Given the description of an element on the screen output the (x, y) to click on. 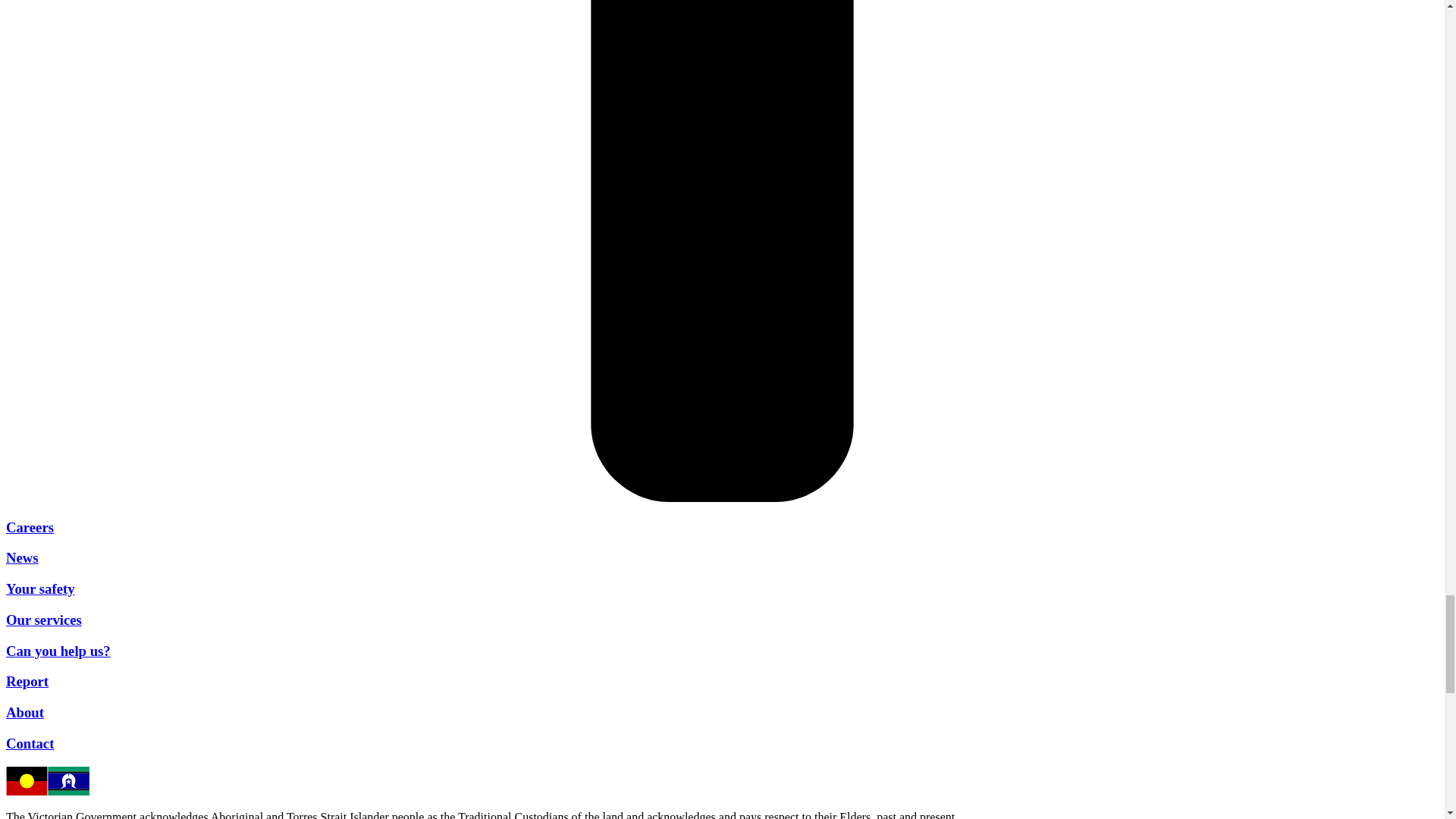
Can you help us? (57, 650)
About (24, 712)
Your safety (40, 588)
Report (26, 681)
Careers (29, 527)
News (22, 557)
Contact (29, 743)
Our services (43, 619)
